Given the description of an element on the screen output the (x, y) to click on. 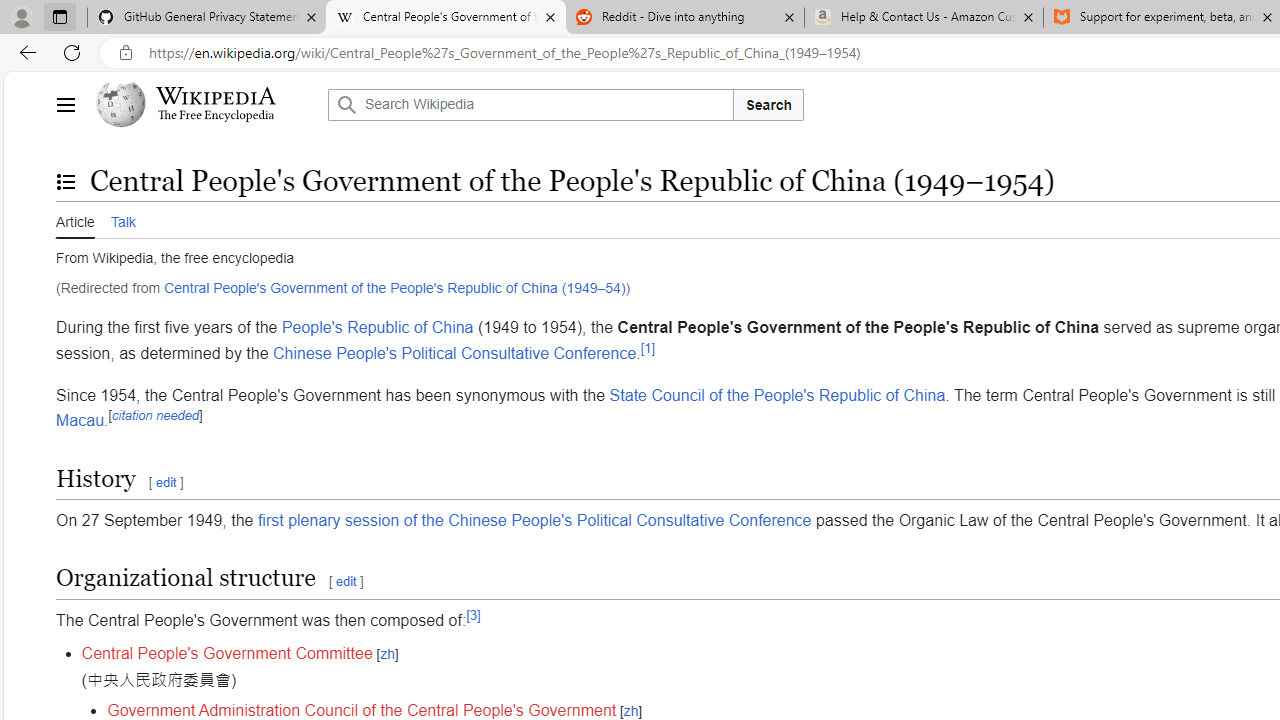
Article (75, 219)
[1] (647, 347)
zh (630, 712)
Toggle the table of contents (65, 181)
Macau (80, 420)
Help & Contact Us - Amazon Customer Service - Sleeping (924, 17)
GitHub General Privacy Statement - GitHub Docs (207, 17)
Central People's Government Committee (226, 654)
edit (346, 581)
Chinese People's Political Consultative Conference (454, 353)
